Given the description of an element on the screen output the (x, y) to click on. 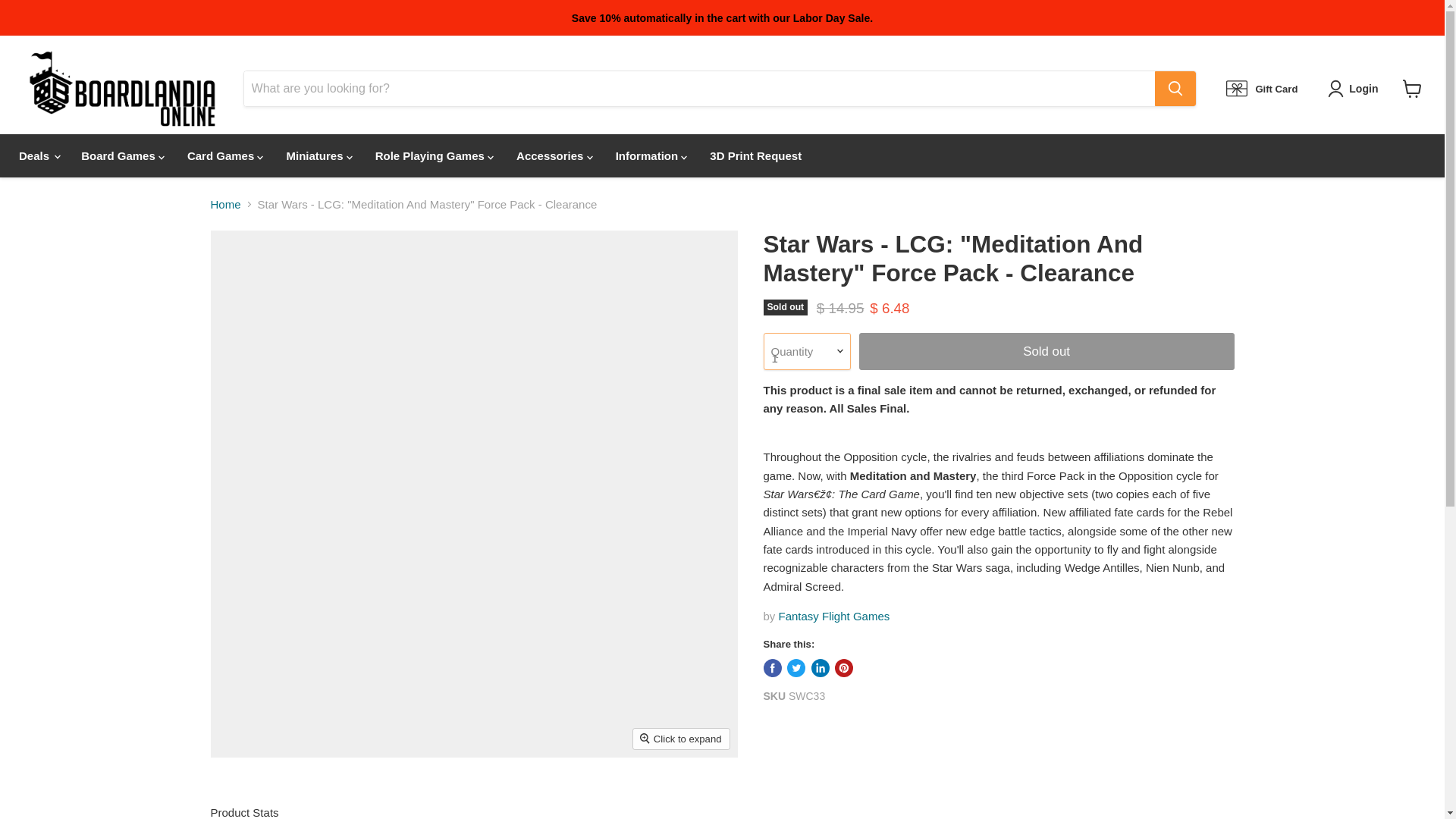
Login (1363, 88)
View cart (1411, 88)
Gift Card (1261, 88)
Fantasy Flight Games (833, 615)
